Given the description of an element on the screen output the (x, y) to click on. 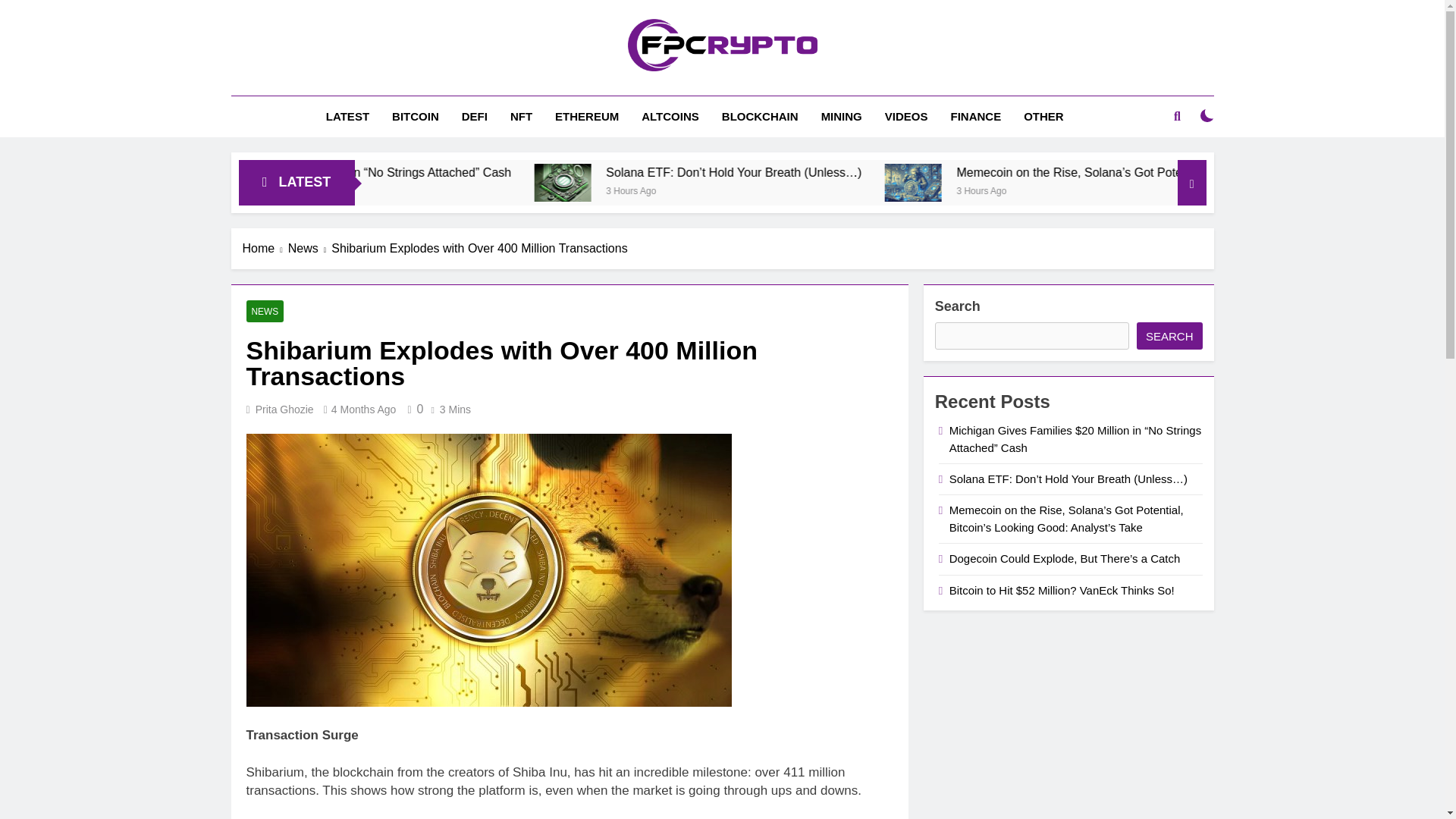
on (1206, 115)
VIDEOS (906, 116)
Fast Pay Crypto (599, 93)
DEFI (474, 116)
MINING (841, 116)
LATEST (347, 116)
3 Hours Ago (1199, 189)
3 Hours Ago (416, 189)
ETHEREUM (586, 116)
NFT (521, 116)
3 Hours Ago (857, 189)
ALTCOINS (670, 116)
BLOCKCHAIN (759, 116)
OTHER (1043, 116)
BITCOIN (414, 116)
